Given the description of an element on the screen output the (x, y) to click on. 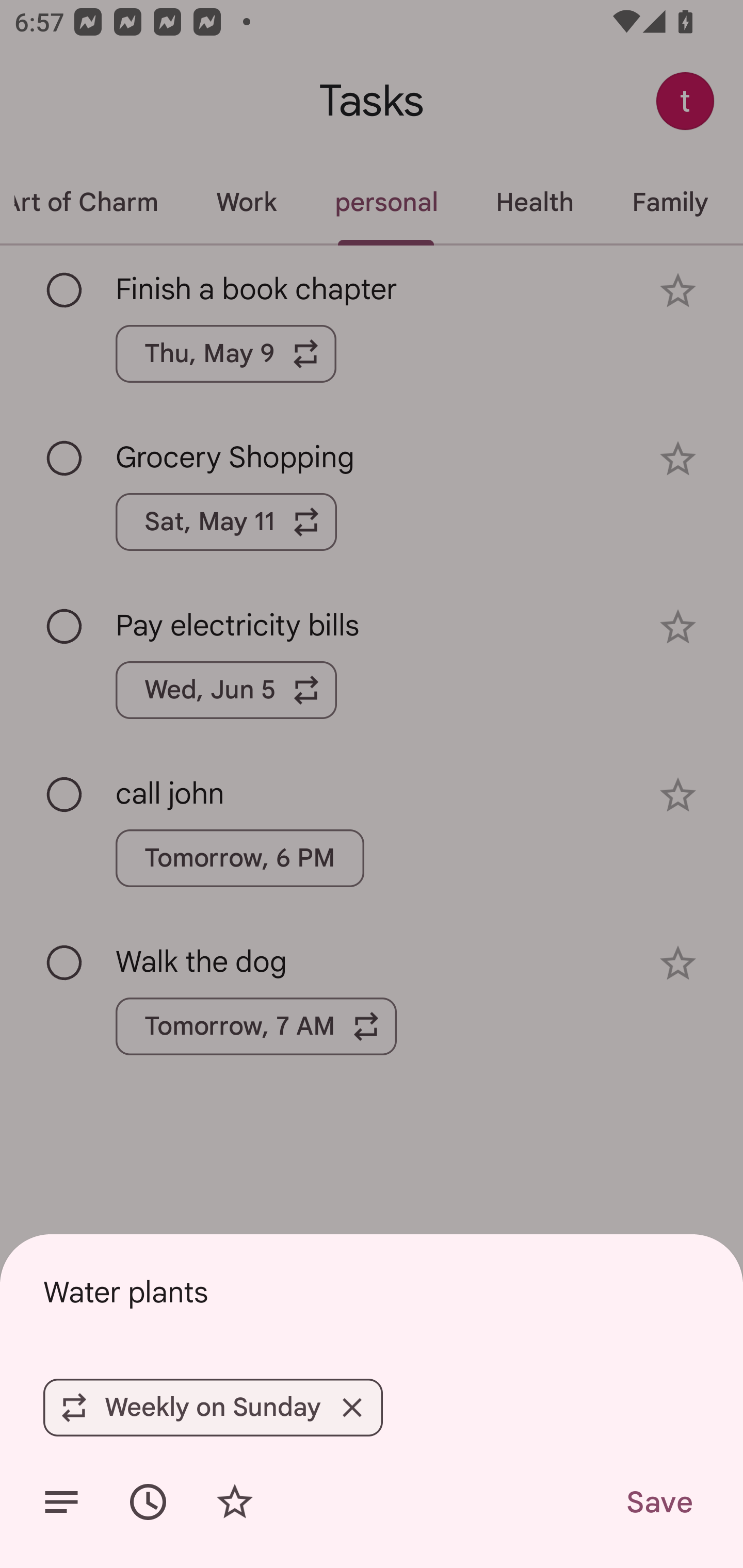
Water plants (371, 1291)
Weekly on Sunday Remove Weekly on Sunday (212, 1407)
Save (659, 1501)
Add details (60, 1501)
Set date/time (147, 1501)
Add star (234, 1501)
